Given the description of an element on the screen output the (x, y) to click on. 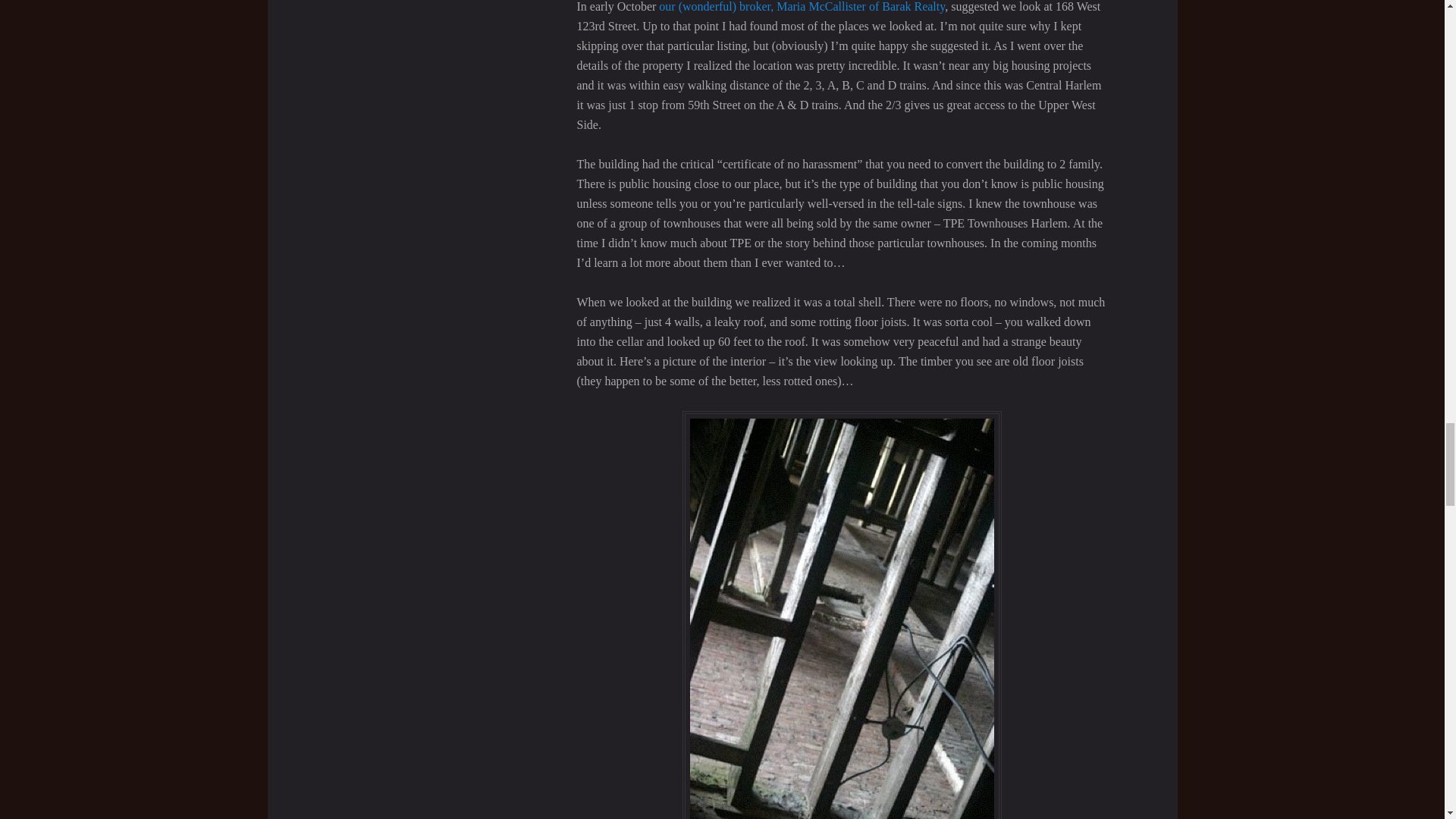
Interior of a gutted townhouse shell in Harlem (841, 615)
